Given the description of an element on the screen output the (x, y) to click on. 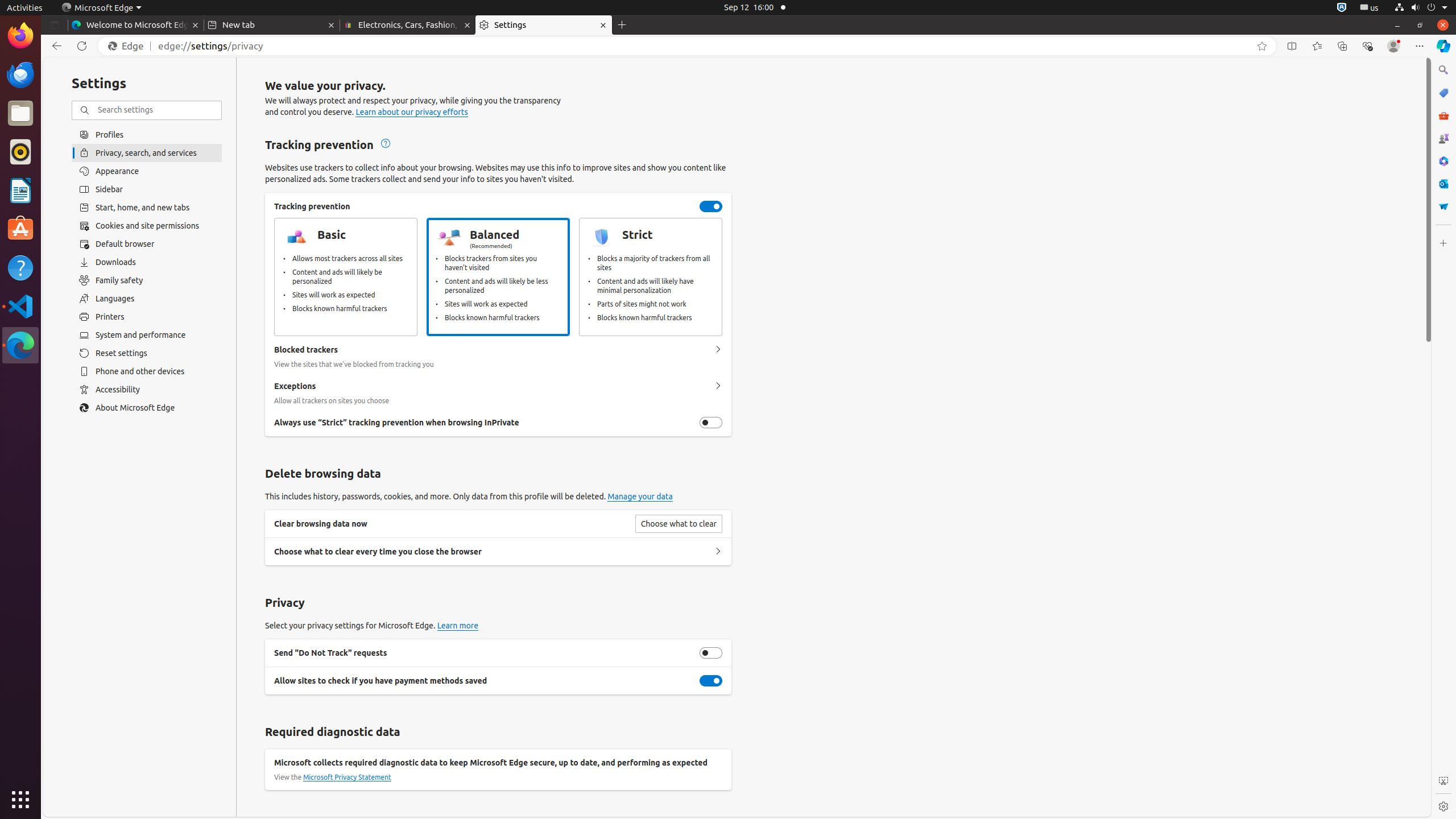
Collections Element type: push-button (1341, 45)
Cookies and site permissions Element type: tree-item (146, 225)
Start, home, and new tabs Element type: tree-item (146, 207)
Default browser Element type: tree-item (146, 243)
System Element type: menu (1420, 7)
